Given the description of an element on the screen output the (x, y) to click on. 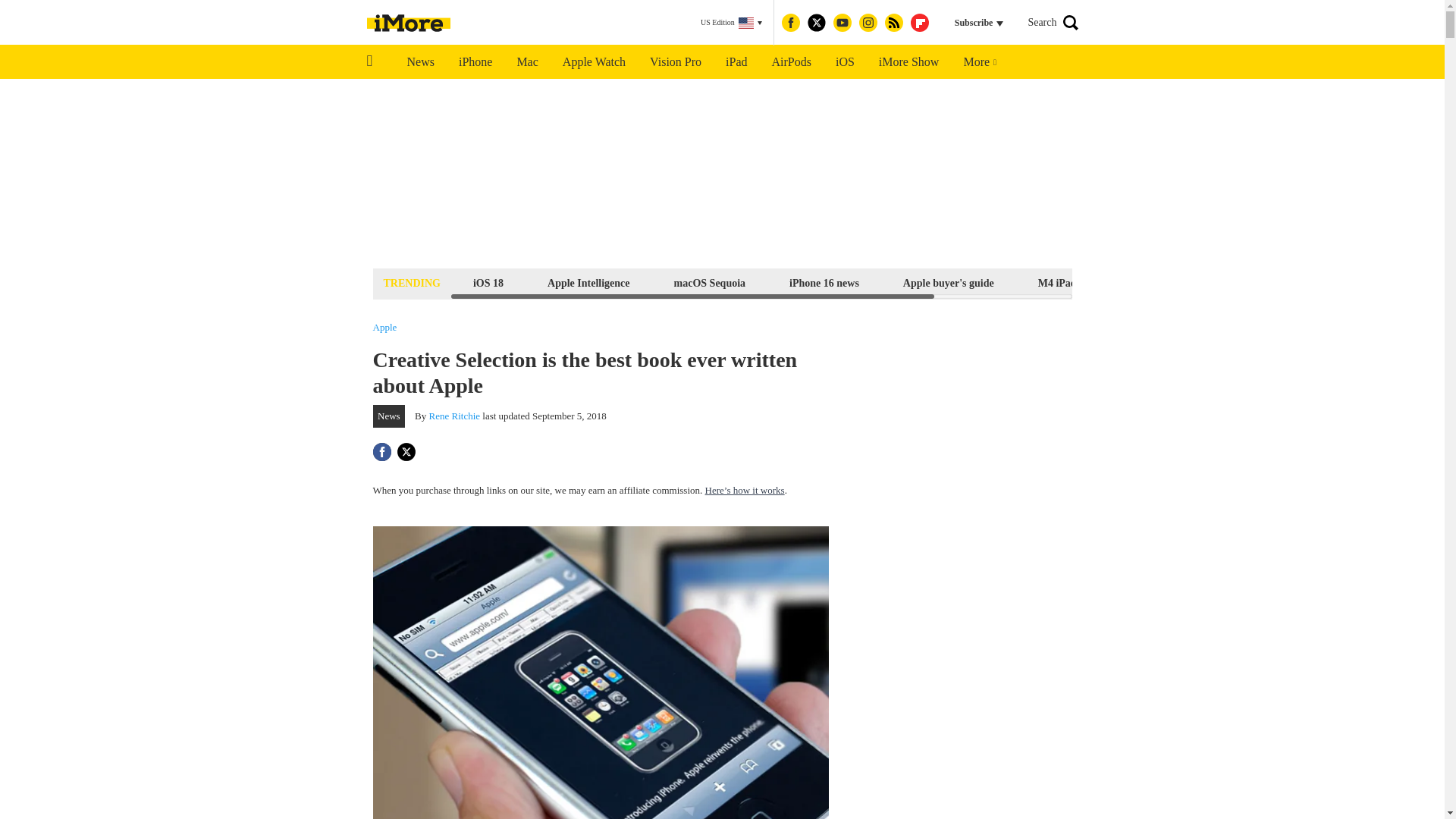
US Edition (731, 22)
Apple Watch (593, 61)
iMore Show (909, 61)
iOS (845, 61)
Vision Pro (675, 61)
Mac (526, 61)
AirPods (792, 61)
News (419, 61)
iPad (735, 61)
iPhone (474, 61)
